Given the description of an element on the screen output the (x, y) to click on. 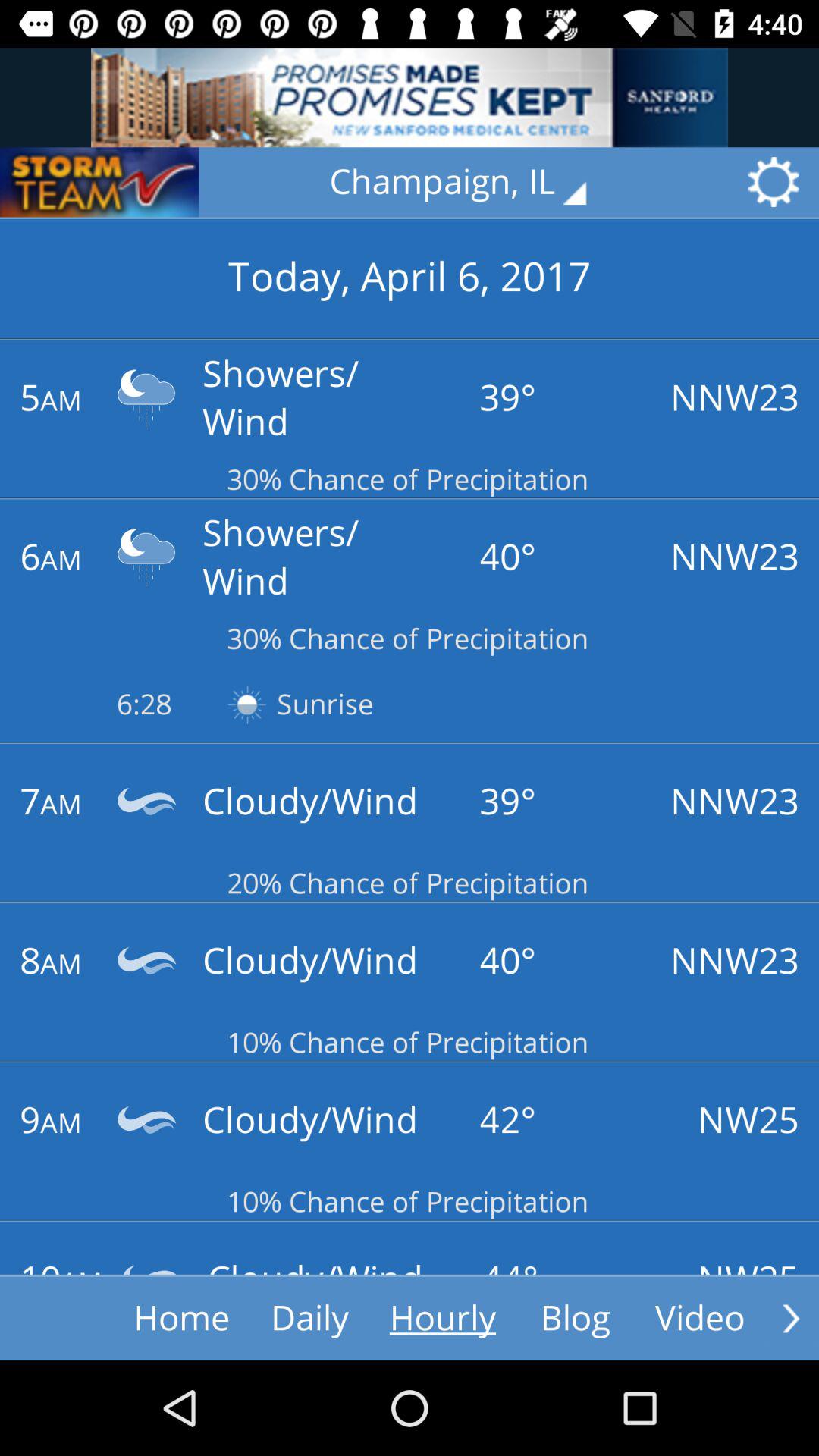
view more (791, 1318)
